Given the description of an element on the screen output the (x, y) to click on. 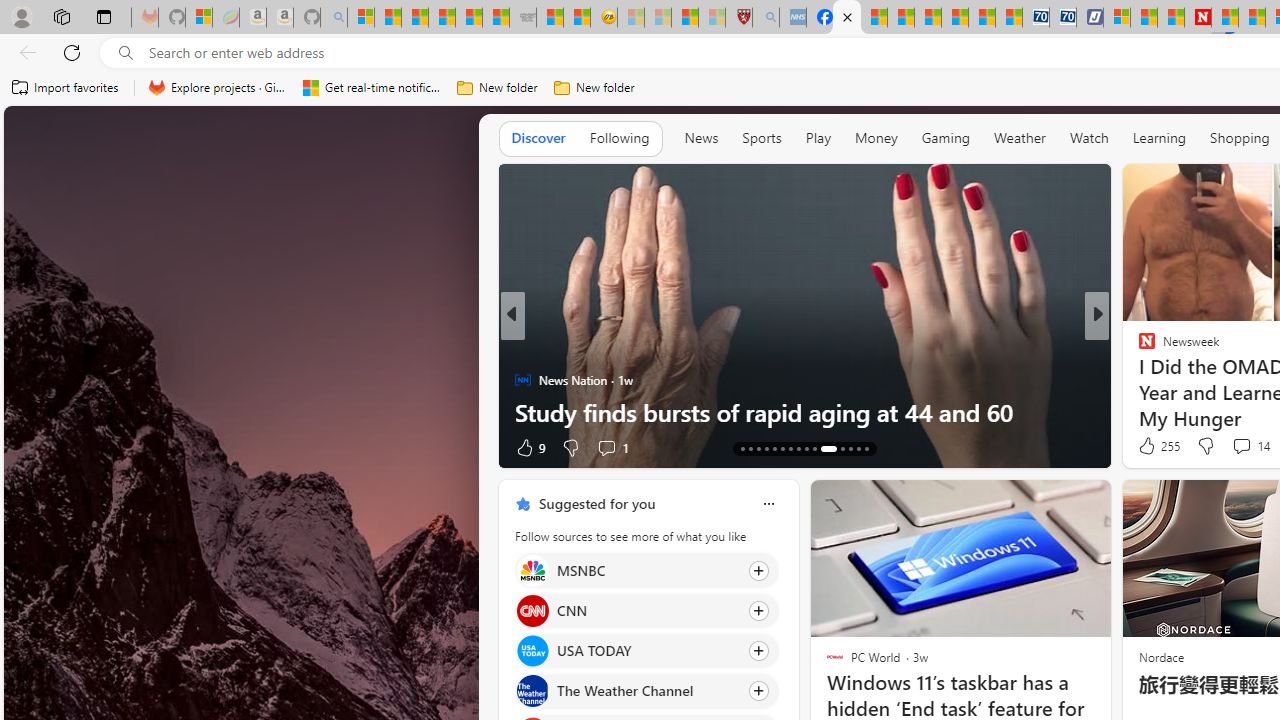
BuzzFeed (1138, 347)
View comments 23 Comment (11, 447)
AutomationID: tab-69 (765, 448)
Cheap Hotels - Save70.com (1062, 17)
New Report Confirms 2023 Was Record Hot | Watch (468, 17)
